Given the description of an element on the screen output the (x, y) to click on. 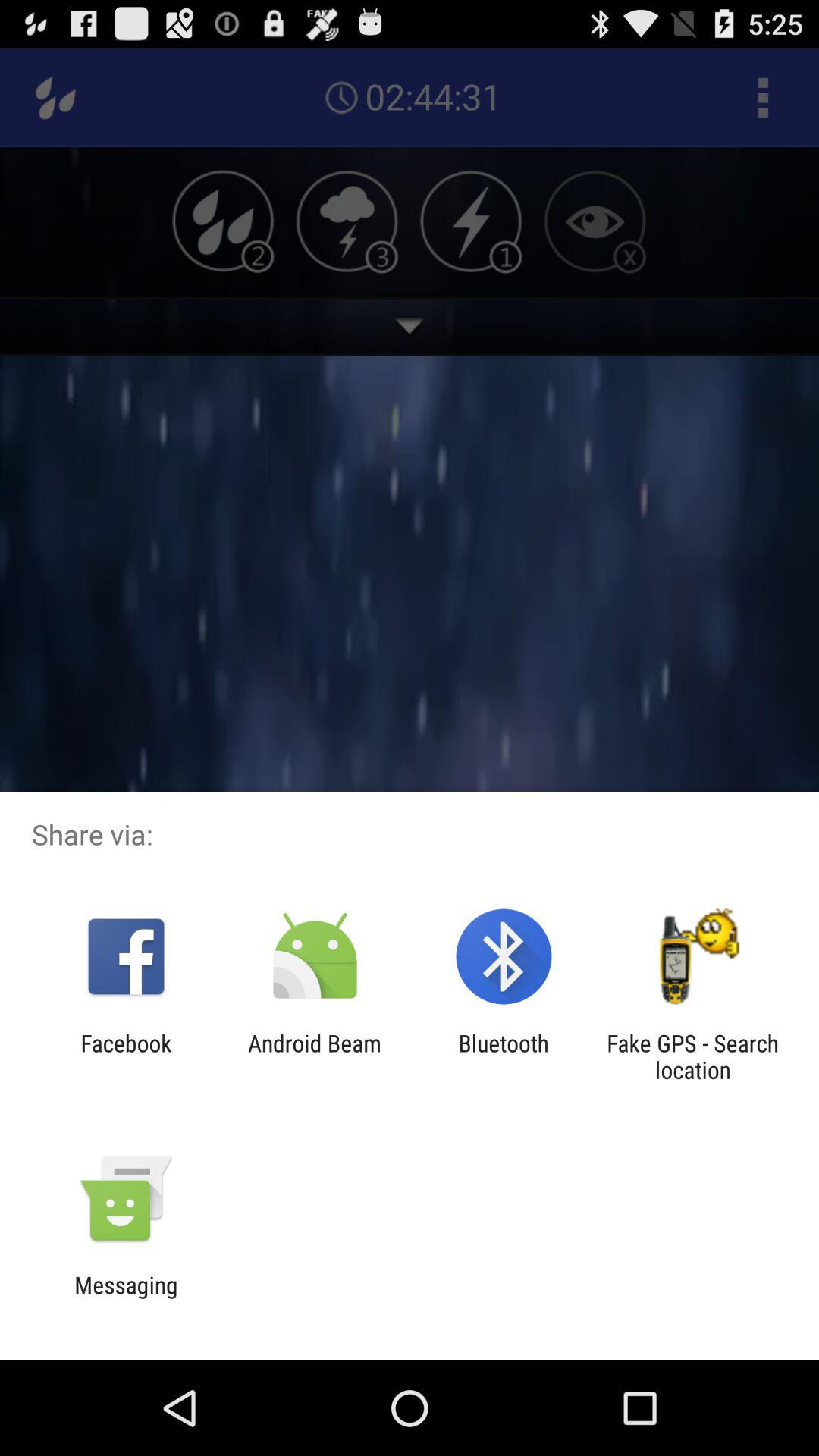
turn on the app to the right of the android beam app (503, 1056)
